Given the description of an element on the screen output the (x, y) to click on. 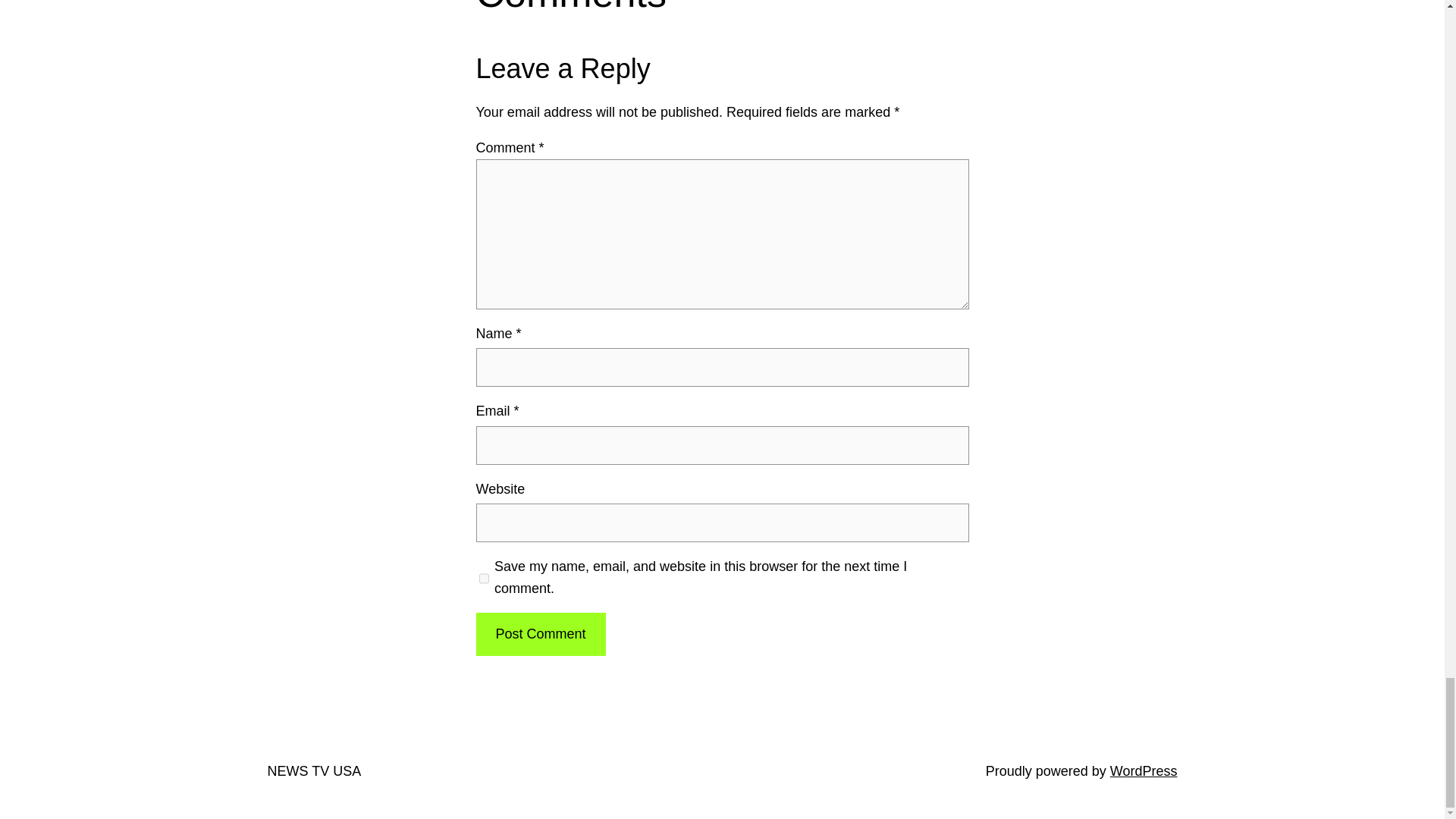
Post Comment (540, 634)
